Given the description of an element on the screen output the (x, y) to click on. 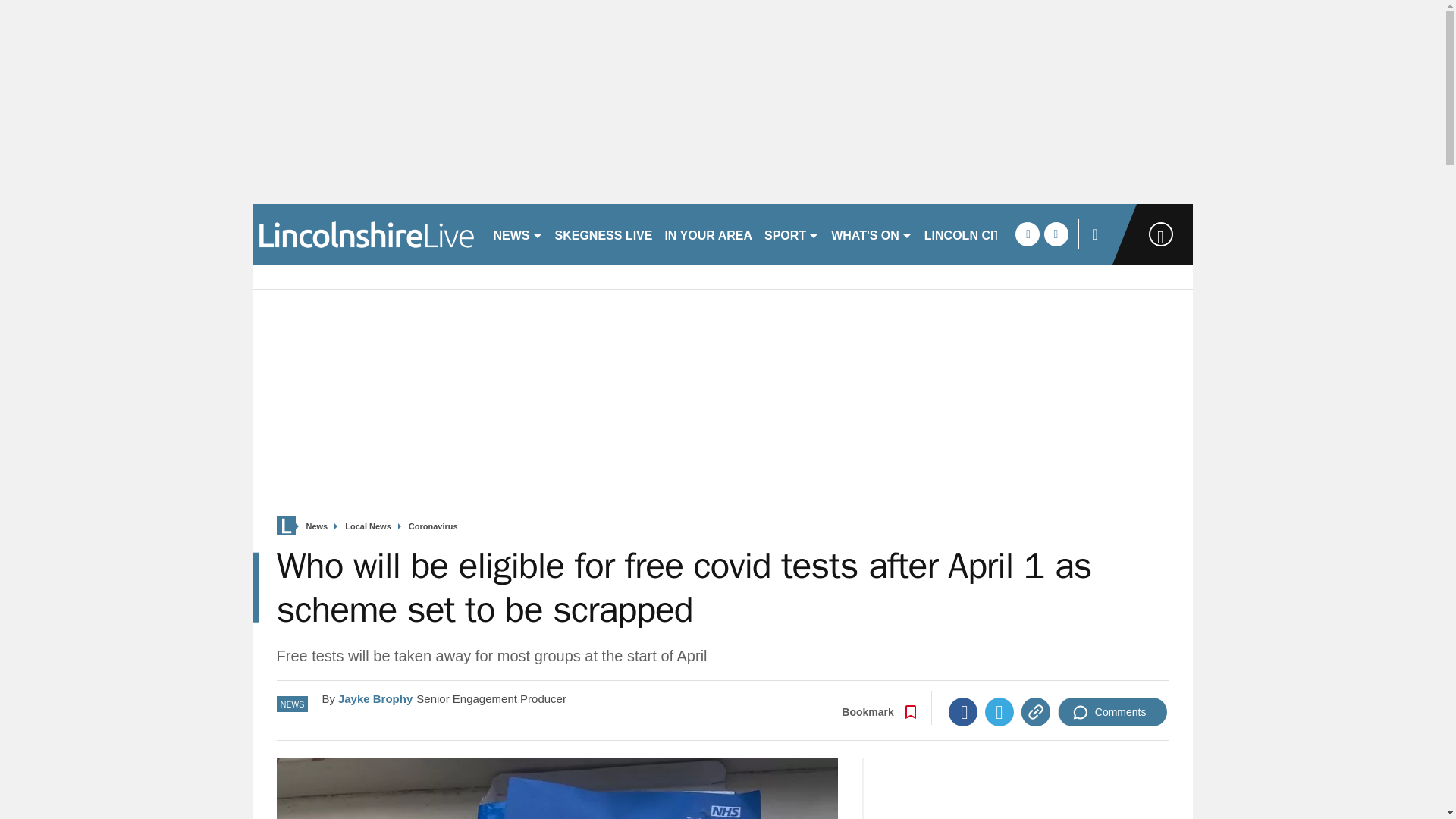
WHAT'S ON (871, 233)
twitter (1055, 233)
Facebook (962, 711)
Comments (1112, 711)
SPORT (791, 233)
LINCOLN CITY FC (975, 233)
Twitter (999, 711)
IN YOUR AREA (708, 233)
NEWS (517, 233)
lincolnshirelive (365, 233)
SKEGNESS LIVE (603, 233)
facebook (1026, 233)
